Given the description of an element on the screen output the (x, y) to click on. 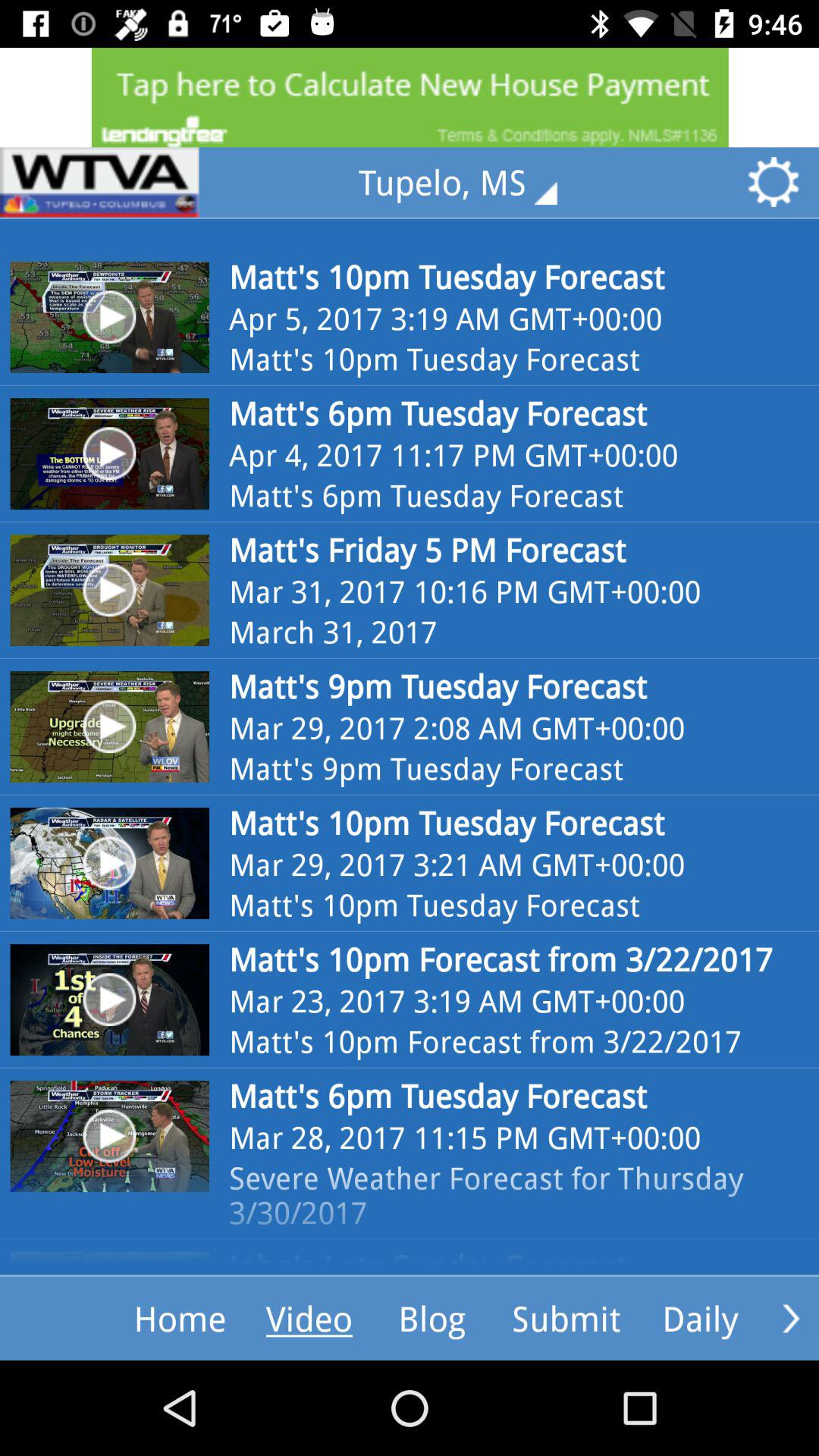
tap the tupelo, ms icon (468, 182)
